Given the description of an element on the screen output the (x, y) to click on. 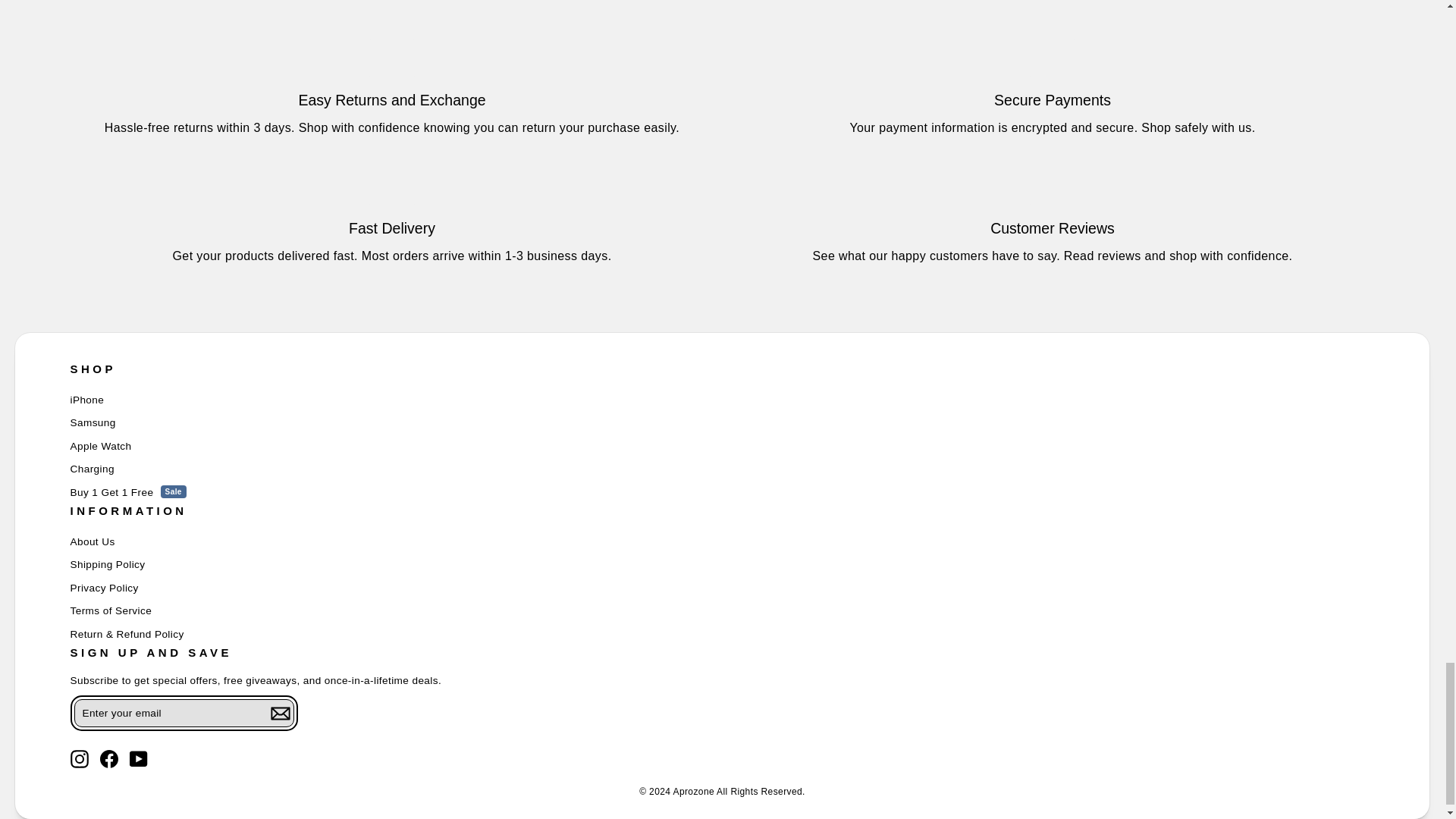
Aprozone on Facebook (108, 759)
Aprozone on YouTube (138, 759)
instagram (78, 759)
icon-email (279, 713)
Aprozone on Instagram (78, 759)
